Given the description of an element on the screen output the (x, y) to click on. 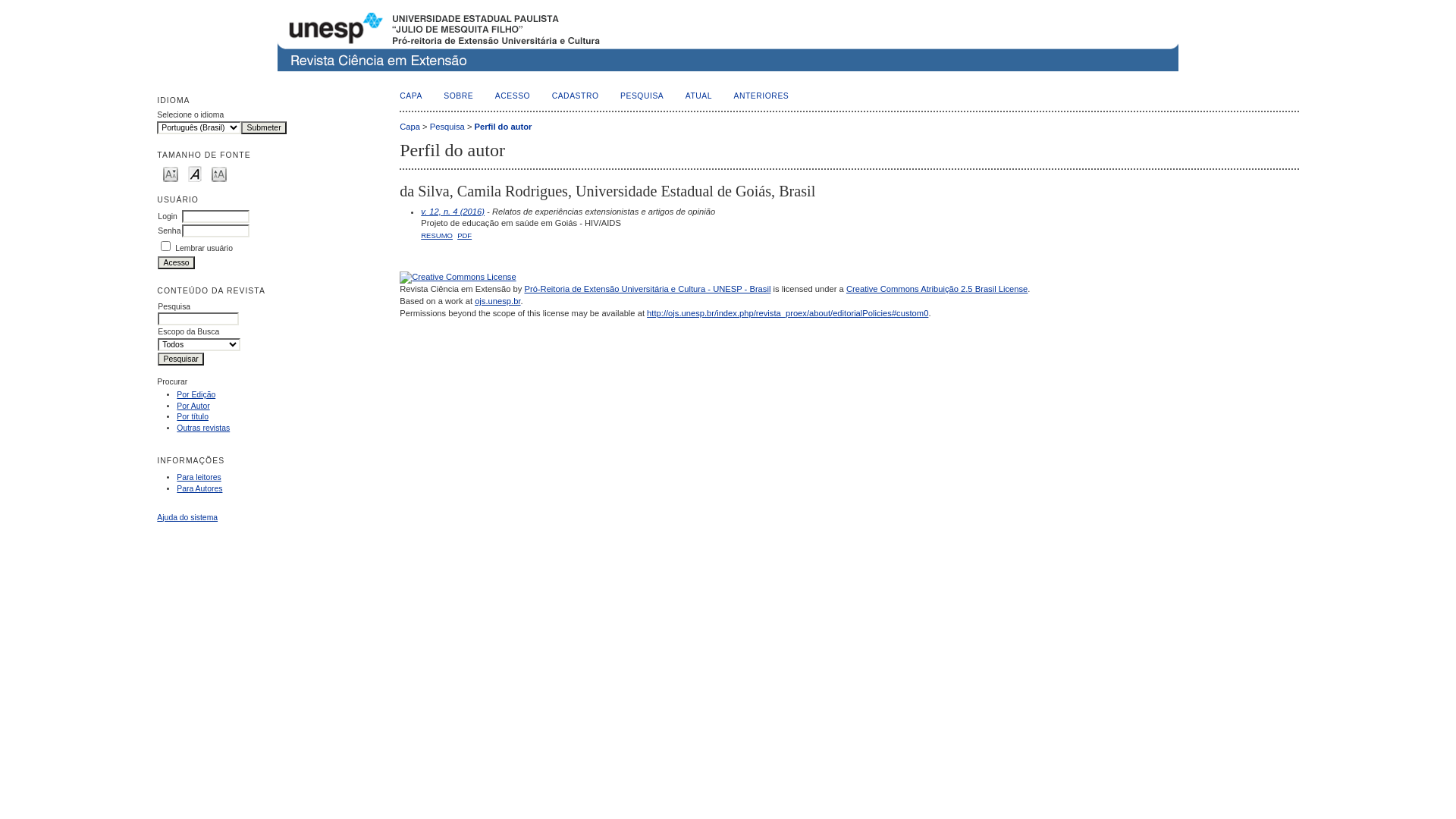
PDF Element type: text (464, 235)
SOBRE Element type: text (458, 95)
Make font size larger Element type: text (218, 173)
PESQUISA Element type: text (641, 95)
CAPA Element type: text (410, 95)
Ajuda do sistema Element type: text (186, 517)
ojs.unesp.br Element type: text (497, 300)
Por Autor Element type: text (192, 405)
v. 12, n. 4 (2016) Element type: text (452, 211)
ACESSO Element type: text (512, 95)
Perfil do autor Element type: text (503, 126)
Make font size default Element type: text (194, 173)
Pesquisa Element type: text (446, 126)
Submeter Element type: text (263, 127)
ATUAL Element type: text (698, 95)
Outras revistas Element type: text (202, 427)
Make font size smaller Element type: text (170, 173)
Acesso Element type: text (175, 262)
Pesquisar Element type: text (180, 358)
RESUMO Element type: text (436, 235)
Para Autores Element type: text (199, 488)
Para leitores Element type: text (198, 477)
Capa Element type: text (409, 126)
CADASTRO Element type: text (575, 95)
ANTERIORES Element type: text (761, 95)
